Given the description of an element on the screen output the (x, y) to click on. 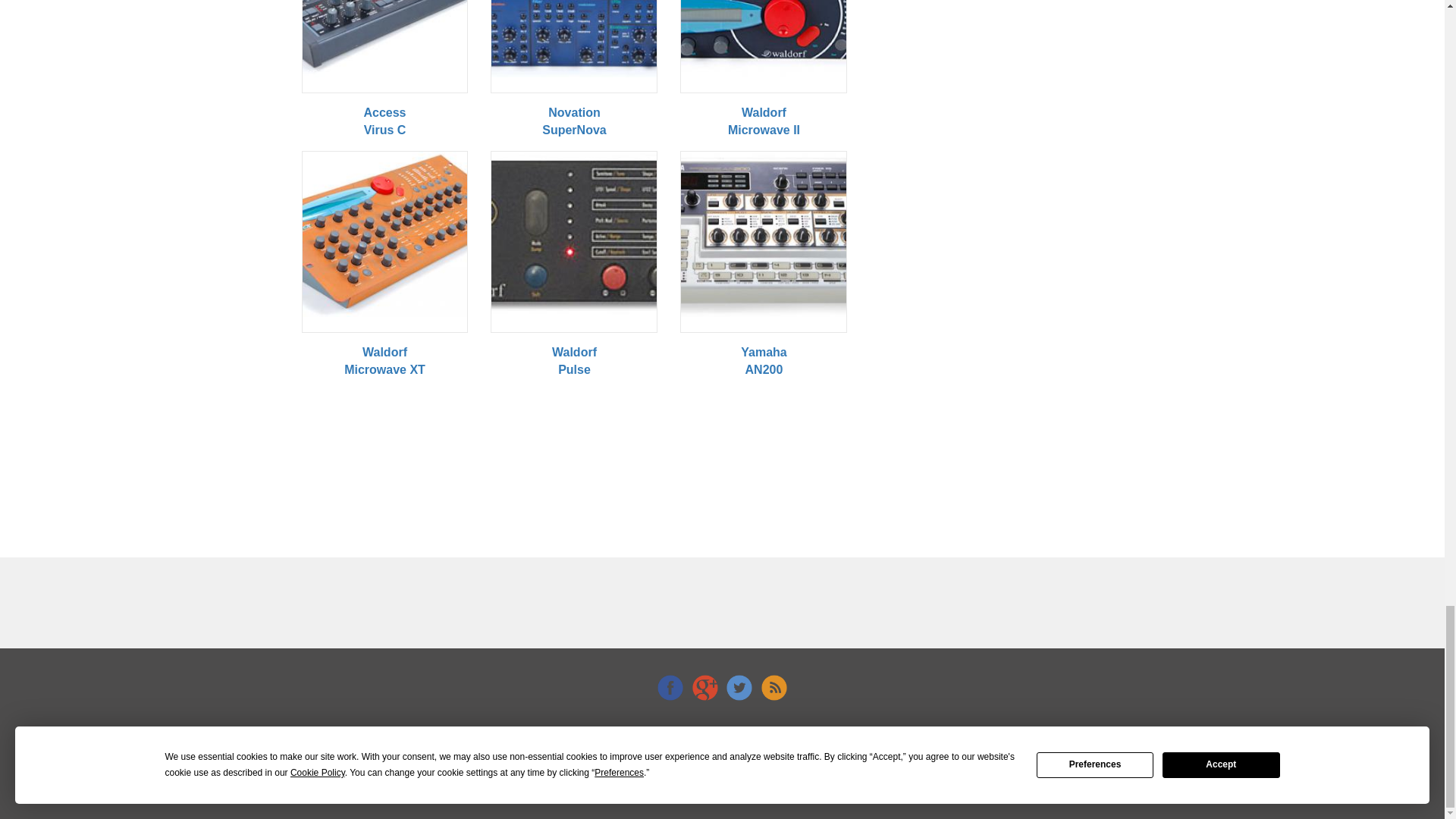
Subscribe to our News Feed (774, 687)
Like us on Facebook (670, 687)
Follow us on Twitter (739, 687)
